Given the description of an element on the screen output the (x, y) to click on. 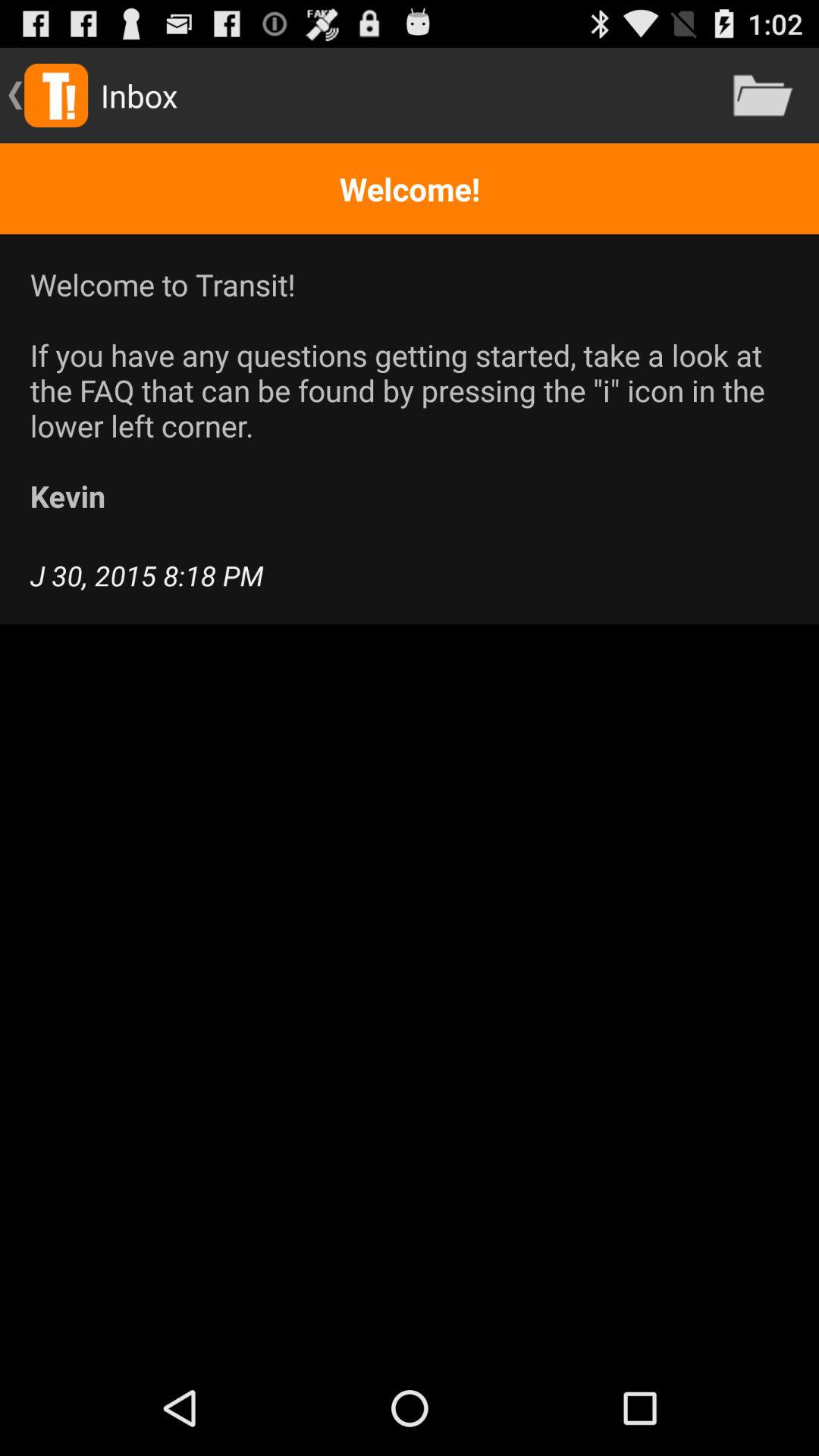
select the icon at the top right corner (763, 95)
